Given the description of an element on the screen output the (x, y) to click on. 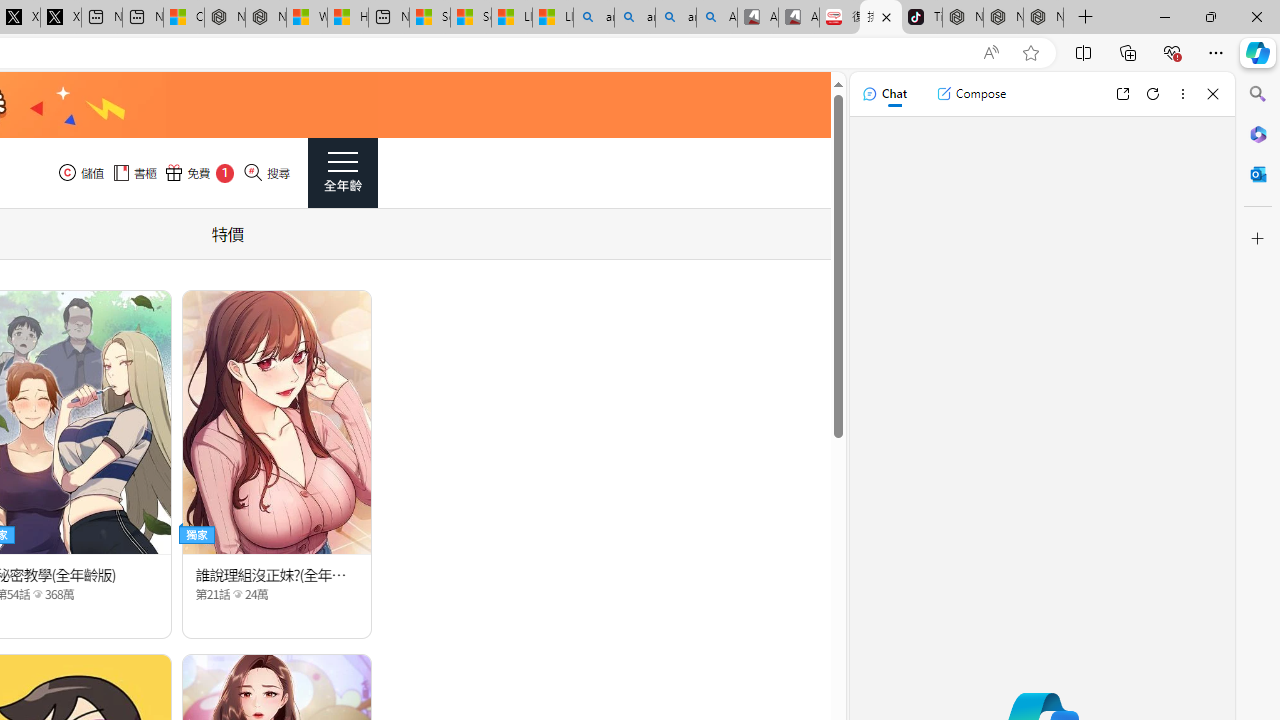
Compose (971, 93)
Nordace Siena Pro 15 Backpack (1003, 17)
Amazon Echo Robot - Search Images (717, 17)
TikTok (922, 17)
Customize (1258, 239)
